Given the description of an element on the screen output the (x, y) to click on. 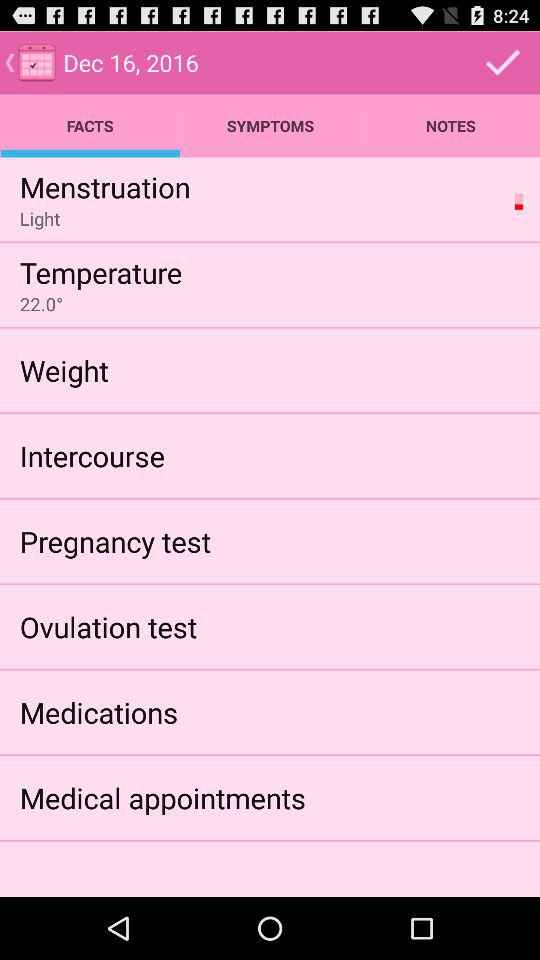
click item above the notes (503, 62)
